Given the description of an element on the screen output the (x, y) to click on. 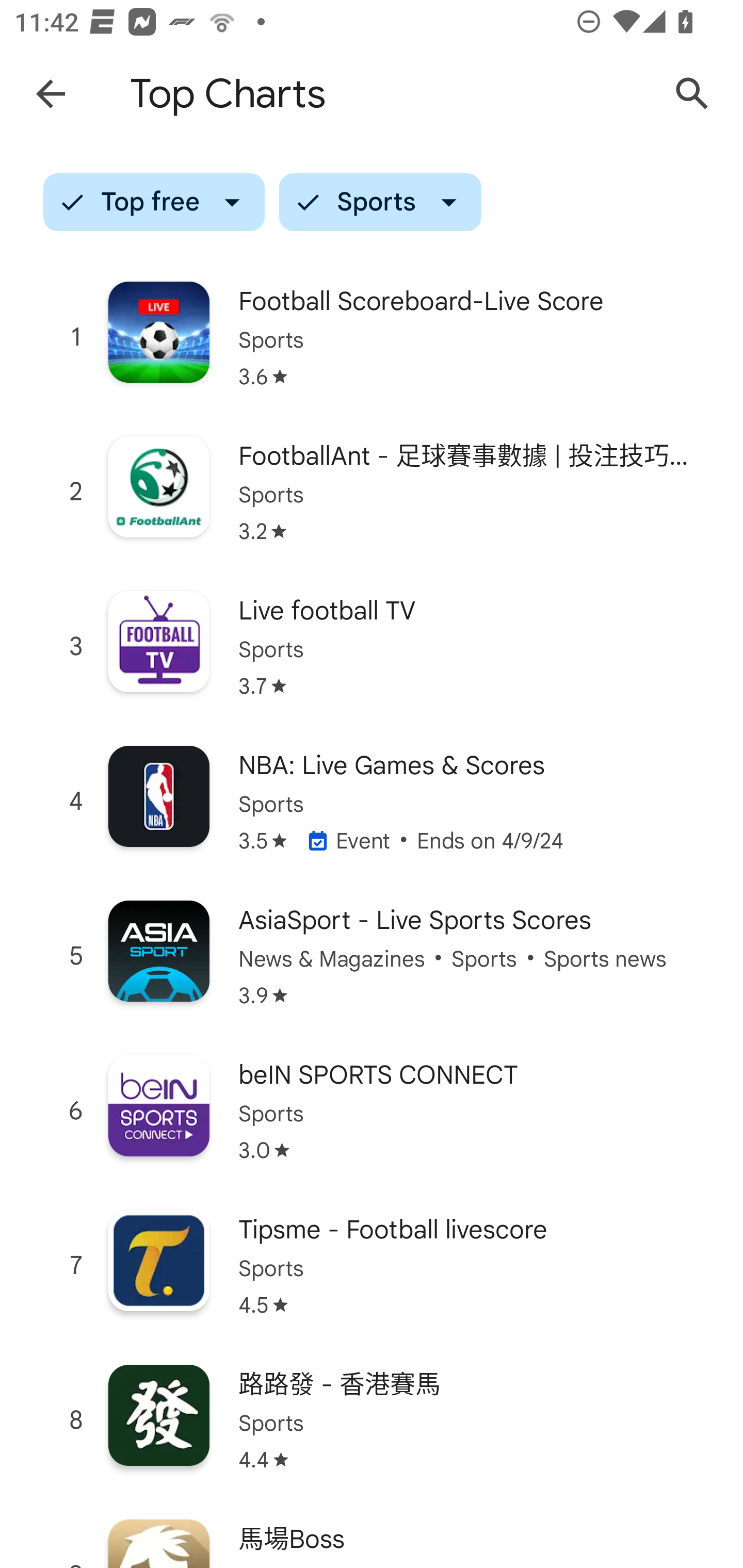
Navigate up (50, 93)
Search Google Play (692, 93)
3 Live football TV
Sports
Star rating: 3.7
 (371, 646)
6 beIN SPORTS CONNECT
Sports
Star rating: 3.0
 (371, 1110)
8 路路發 - 香港賽馬
Sports
Star rating: 4.4
 (371, 1420)
